Given the description of an element on the screen output the (x, y) to click on. 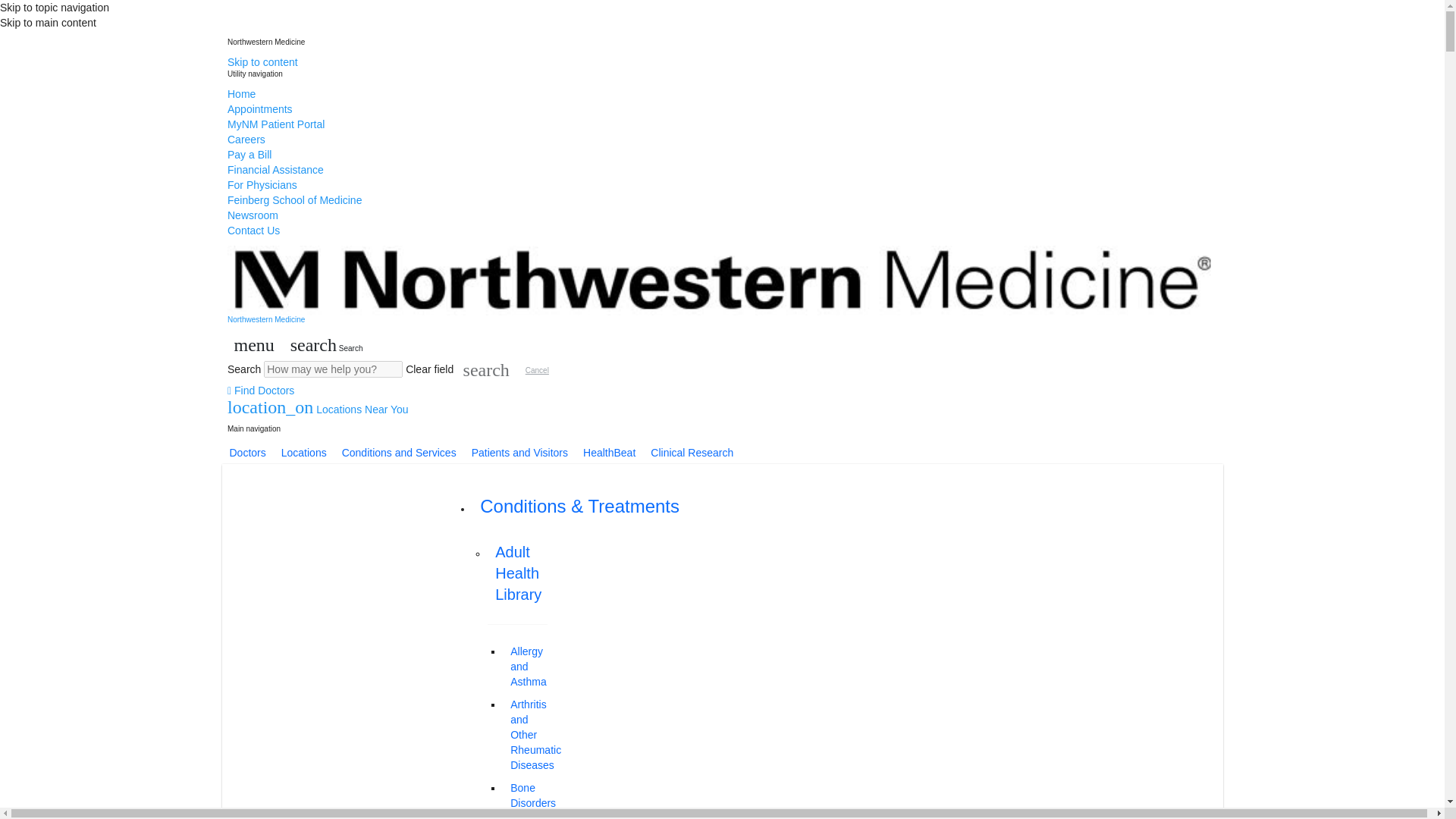
Adult Health Library - Breast Health - Topic Navigation (524, 816)
MyNM Patient Portal (275, 123)
Skip to main content (48, 22)
Contact Us (253, 230)
Newsroom (252, 215)
Locations (303, 452)
Doctors (247, 452)
Pay a Bill (248, 154)
Financial Assistance (275, 169)
Skip to content (262, 61)
Careers (245, 139)
Conditions and Services (399, 452)
For Physicians (262, 184)
Clinical Research (692, 452)
HealthBeat (609, 452)
